Given the description of an element on the screen output the (x, y) to click on. 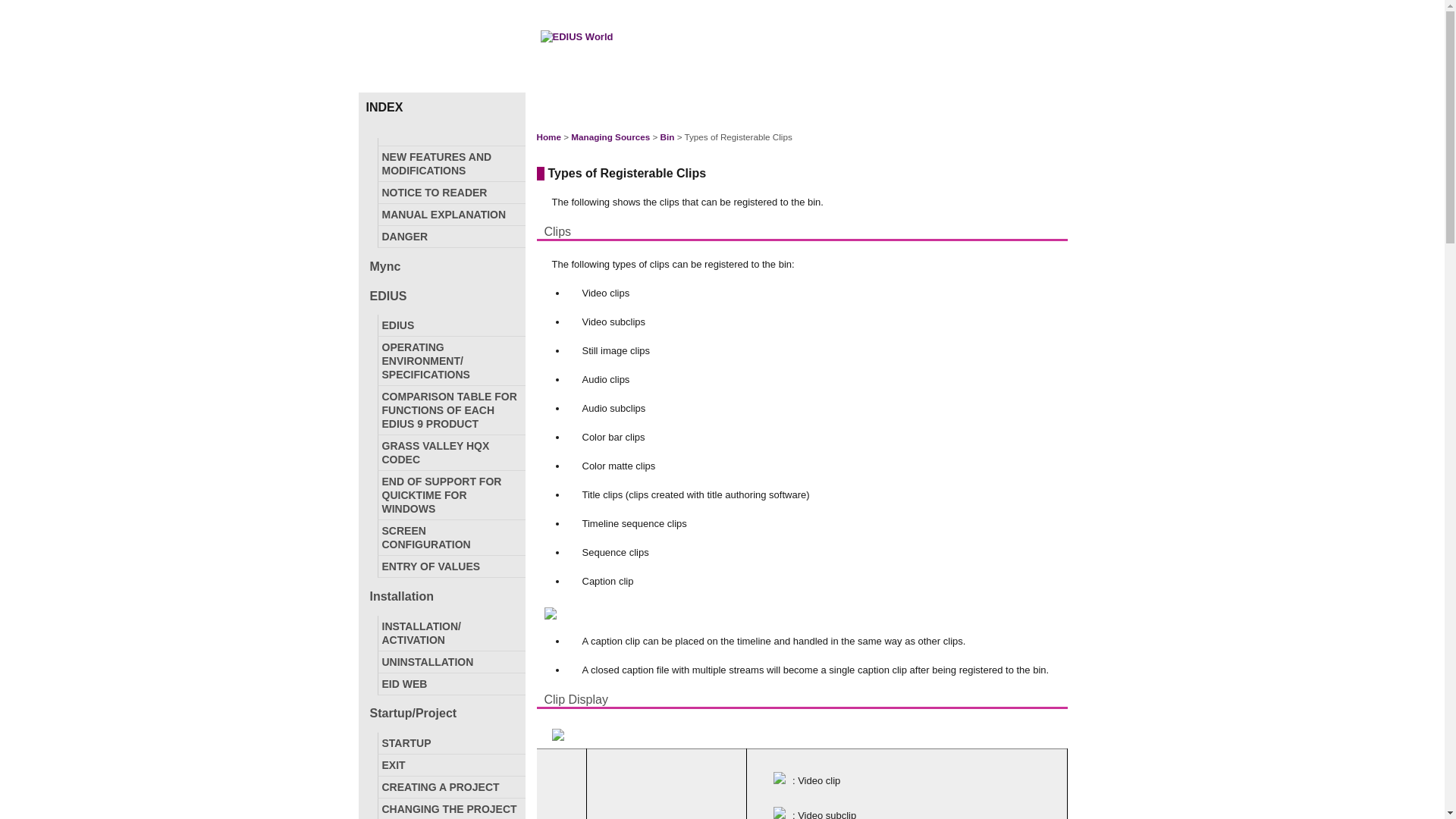
CHANGING THE PROJECT SETTING (450, 808)
NEW FEATURES AND MODIFICATIONS (450, 163)
Mync (444, 266)
EDIUS (444, 296)
EDIUS (450, 324)
COMPARISON TABLE FOR FUNCTIONS OF EACH EDIUS 9 PRODUCT (450, 409)
CREATING A PROJECT (450, 786)
GRASS VALLEY HQX CODEC (450, 452)
STARTUP (450, 742)
UNINSTALLATION (450, 661)
